Given the description of an element on the screen output the (x, y) to click on. 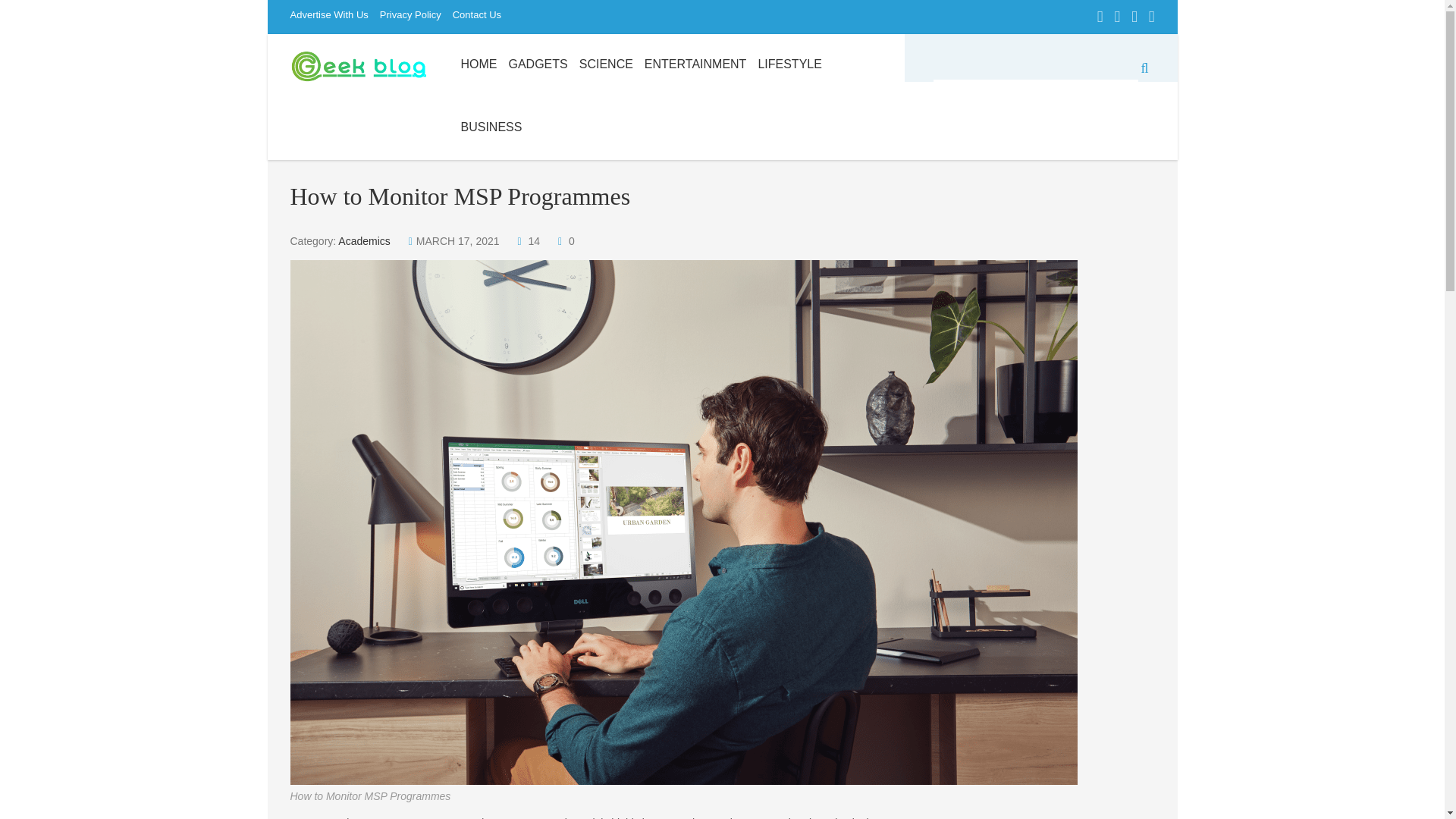
GADGETS (537, 65)
Contact Us (482, 17)
Privacy Policy (416, 17)
Advertise With Us (333, 17)
